Given the description of an element on the screen output the (x, y) to click on. 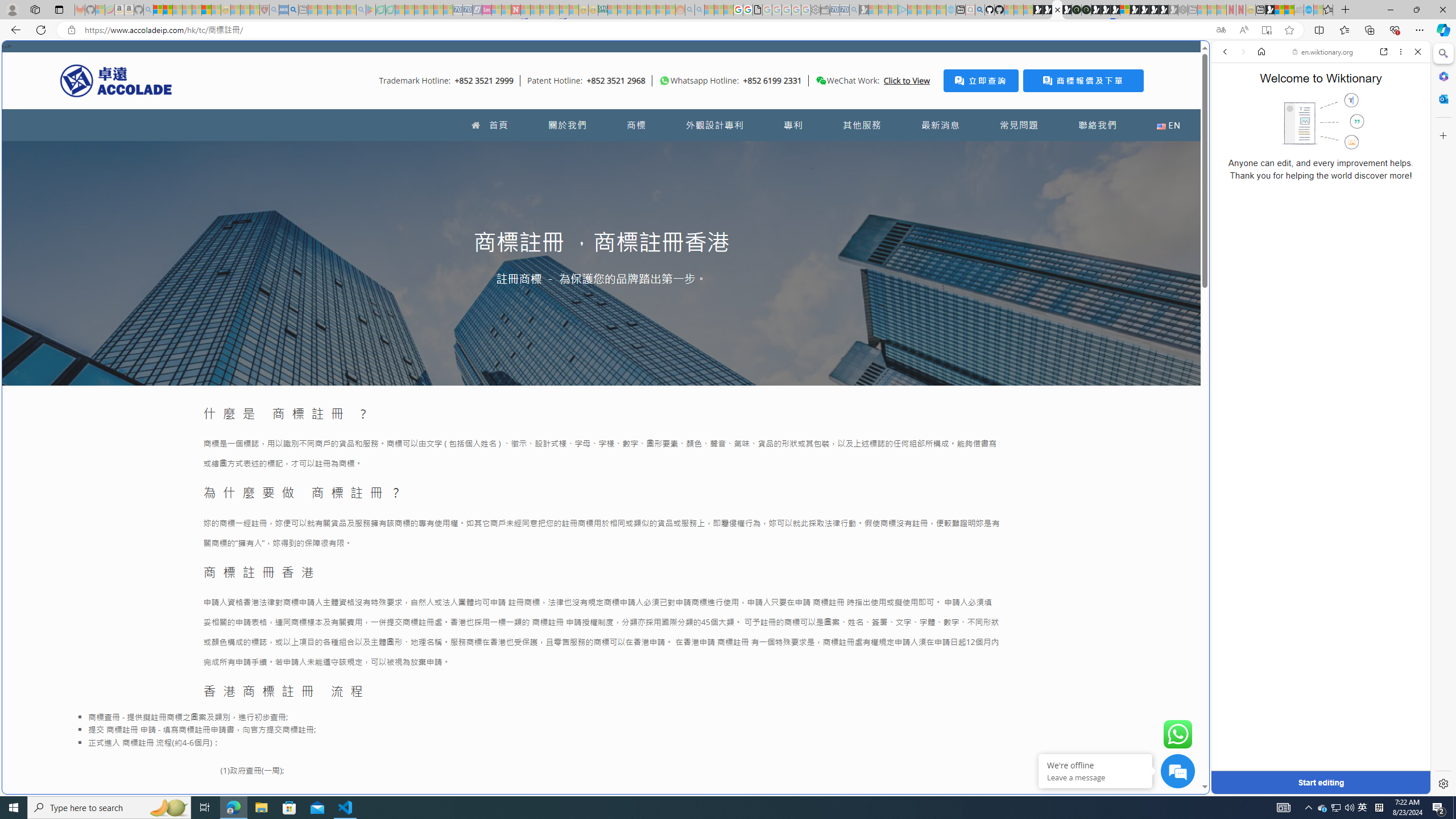
WEB   (1230, 130)
The Weather Channel - MSN - Sleeping (177, 9)
Expert Portfolios - Sleeping (640, 9)
Wiktionary (1315, 380)
github - Search (979, 9)
Bing Real Estate - Home sales and rental listings - Sleeping (853, 9)
Services - Maintenance | Sky Blue Bikes - Sky Blue Bikes (1307, 9)
